Given the description of an element on the screen output the (x, y) to click on. 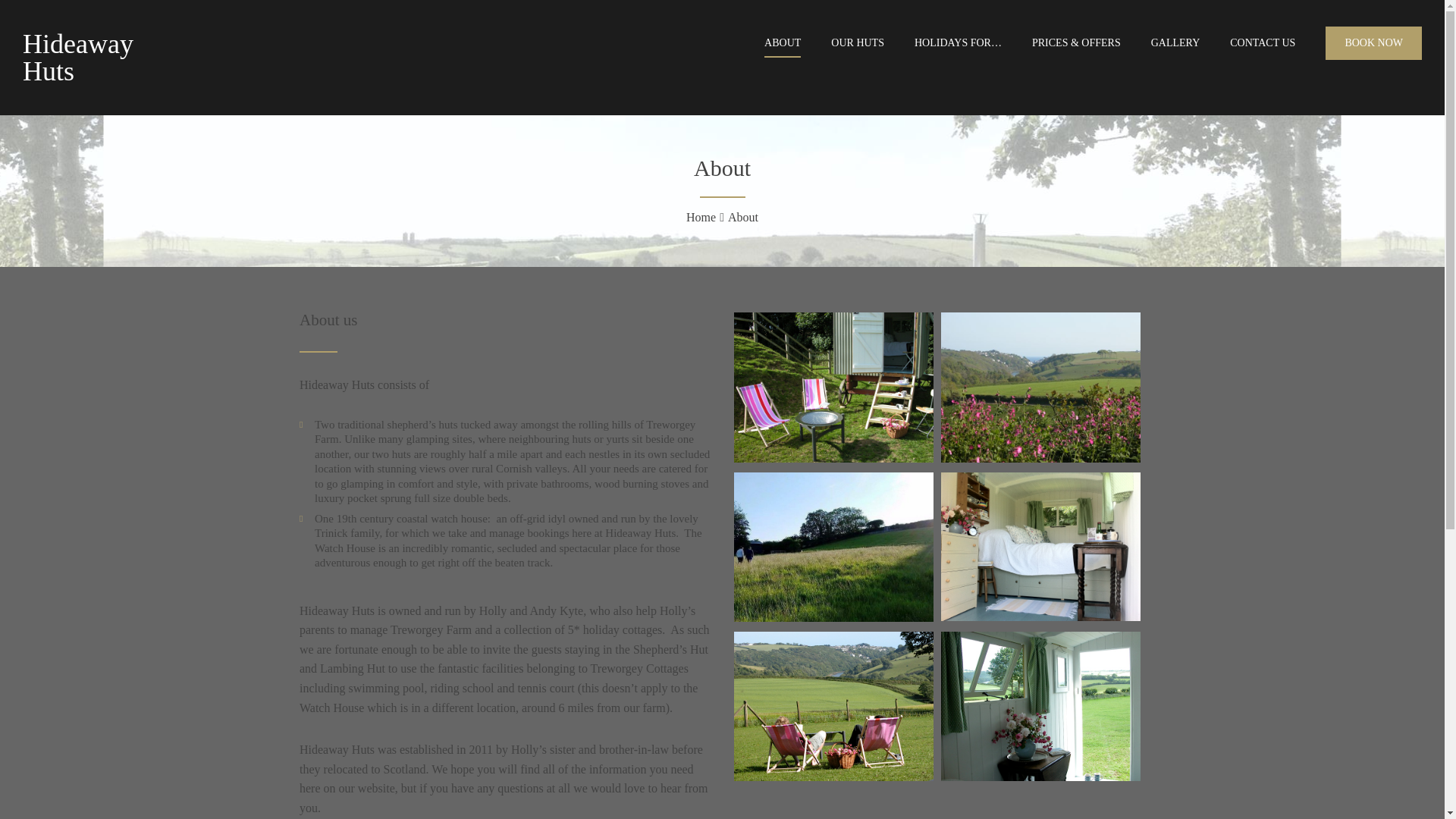
ABOUT (782, 43)
Ready-for breakfast (833, 458)
OUR HUTS (857, 43)
BOOK NOW (1373, 42)
CONTACT US (1262, 43)
below the lambing hut (833, 617)
The-comfy-bed (1040, 616)
Hideaway Huts (78, 57)
hut deckchairs (833, 776)
view with flowers (1040, 458)
The-view-from-the-door (1040, 776)
GALLERY (1175, 43)
